Given the description of an element on the screen output the (x, y) to click on. 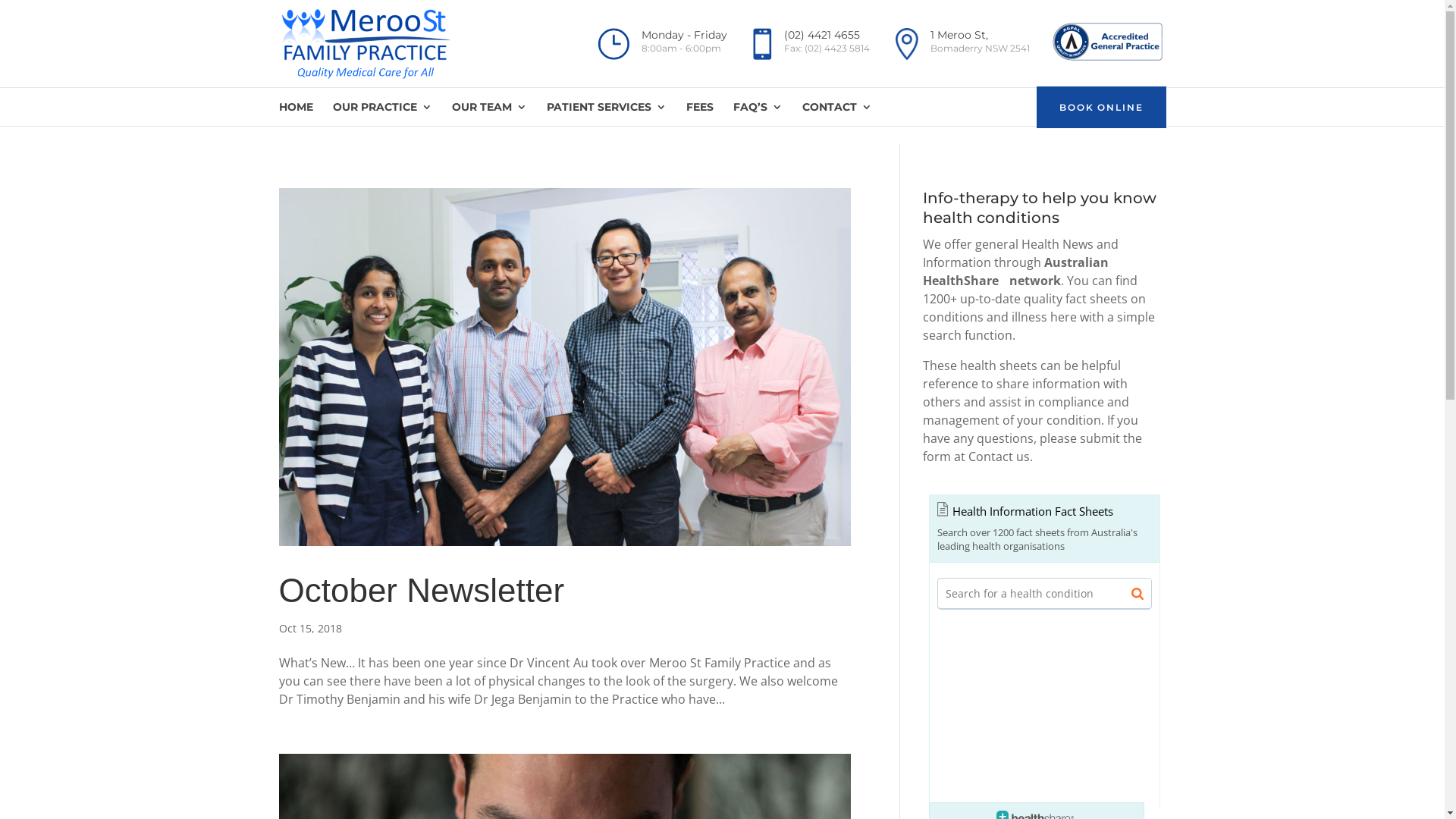
FEES Element type: text (698, 113)
(02) 4421 4655 Element type: text (821, 34)
Contact us Element type: text (998, 456)
OUR PRACTICE Element type: text (381, 113)
PATIENT SERVICES Element type: text (605, 113)
CONTACT Element type: text (837, 113)
BOOK ONLINE Element type: text (1100, 107)
OUR TEAM Element type: text (489, 113)
HOME Element type: text (296, 113)
October Newsletter Element type: text (421, 589)
